Given the description of an element on the screen output the (x, y) to click on. 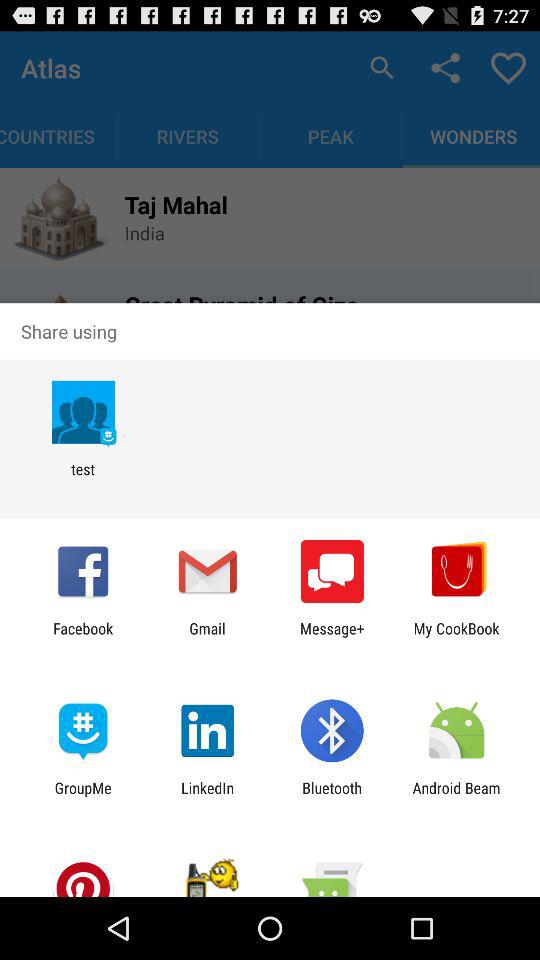
select icon next to message+ item (207, 637)
